Given the description of an element on the screen output the (x, y) to click on. 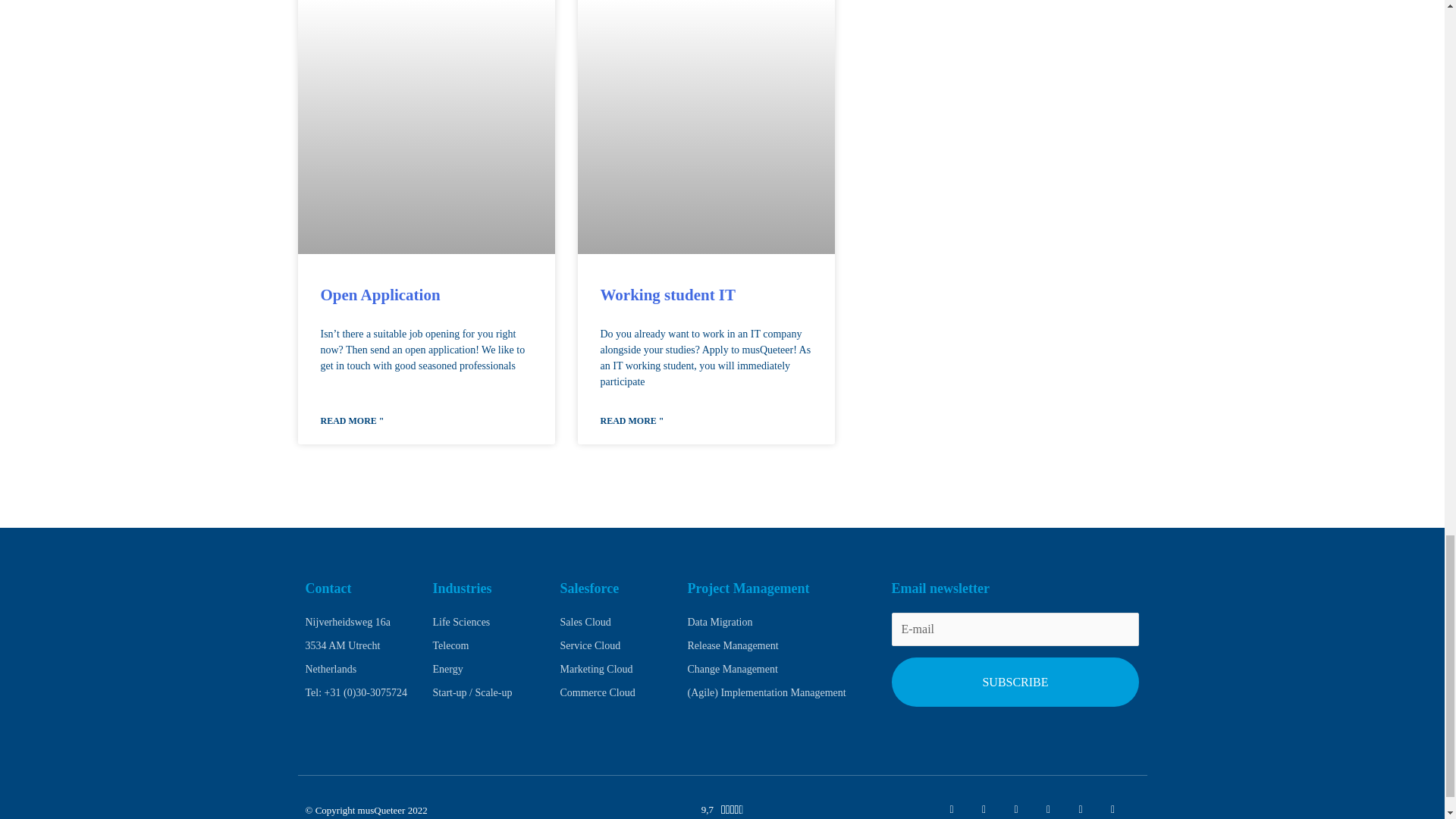
SUBSCRIBE (1015, 682)
READ MORE " (352, 420)
E-mail (1015, 629)
Open Application (379, 294)
Working student IT (667, 294)
